Given the description of an element on the screen output the (x, y) to click on. 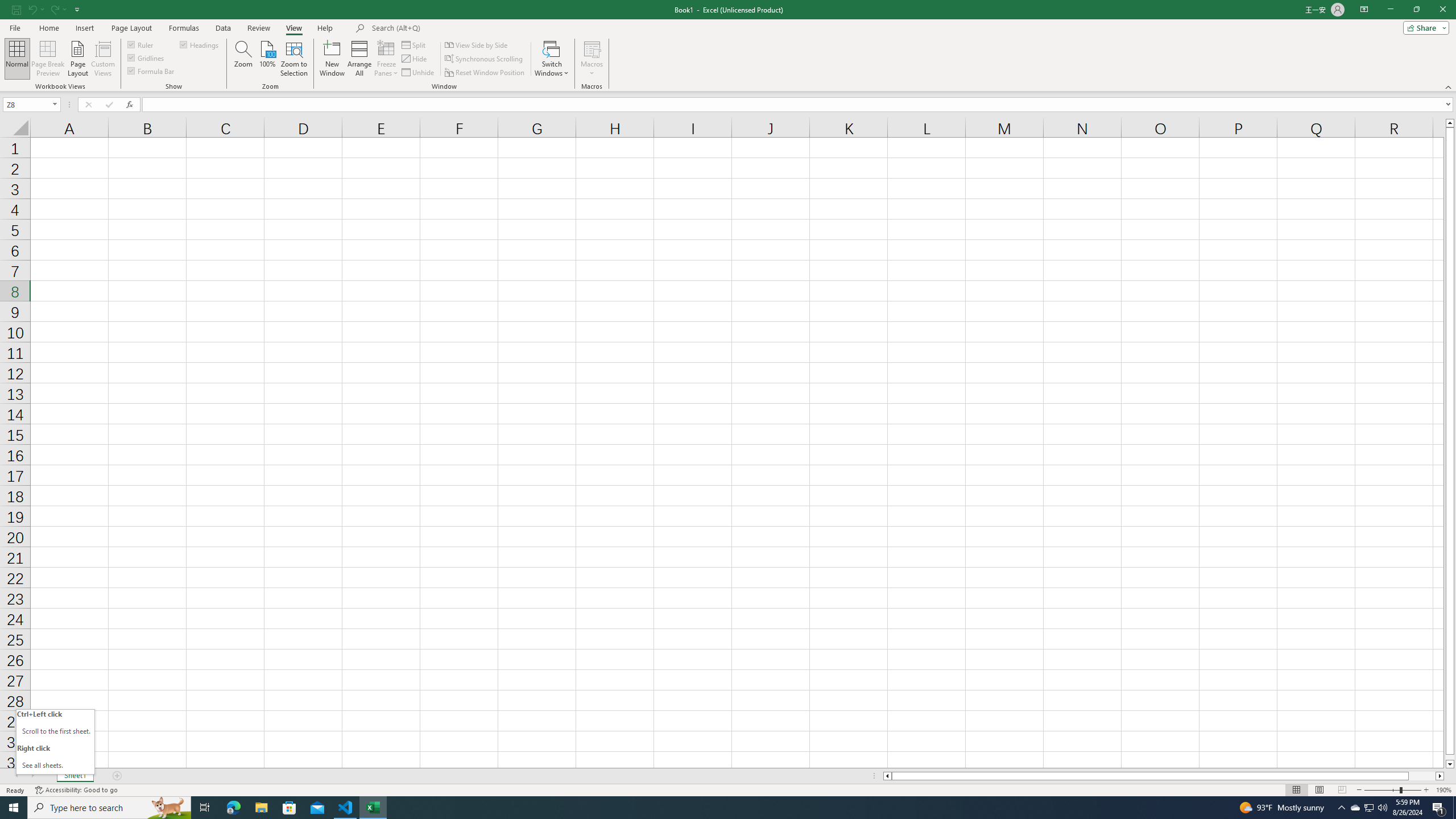
Quick Access Toolbar (46, 9)
Page down (1449, 757)
Page Break Preview (47, 58)
Minimize (1390, 9)
Formula Bar (151, 69)
Customize Quick Access Toolbar (77, 9)
Accessibility Checker Accessibility: Good to go (76, 790)
Scroll Right (32, 775)
Share (1423, 27)
Macros (591, 58)
View (293, 28)
